Given the description of an element on the screen output the (x, y) to click on. 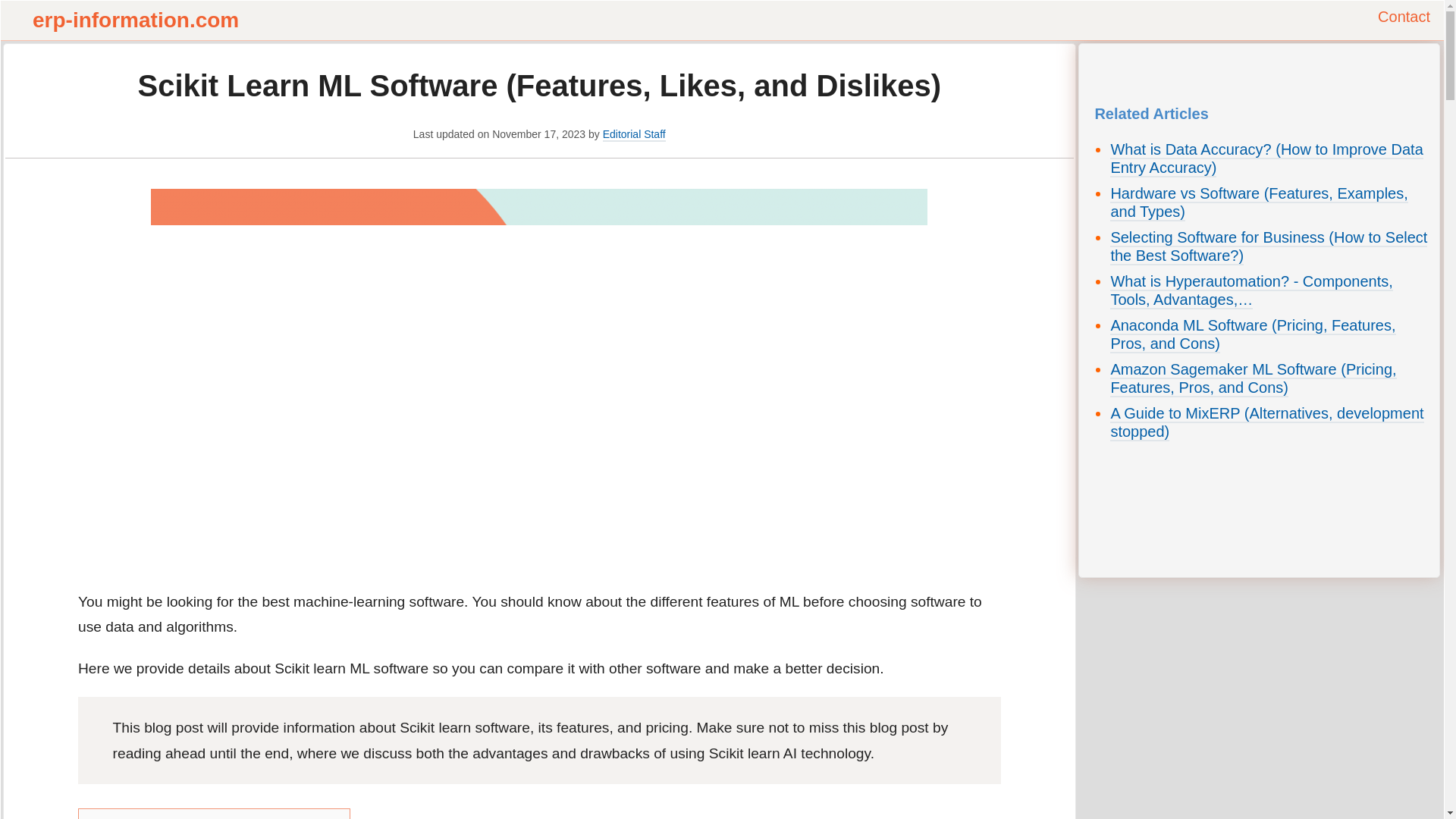
erp-information.com (135, 19)
Editorial Staff (633, 134)
Contact (1403, 16)
